Given the description of an element on the screen output the (x, y) to click on. 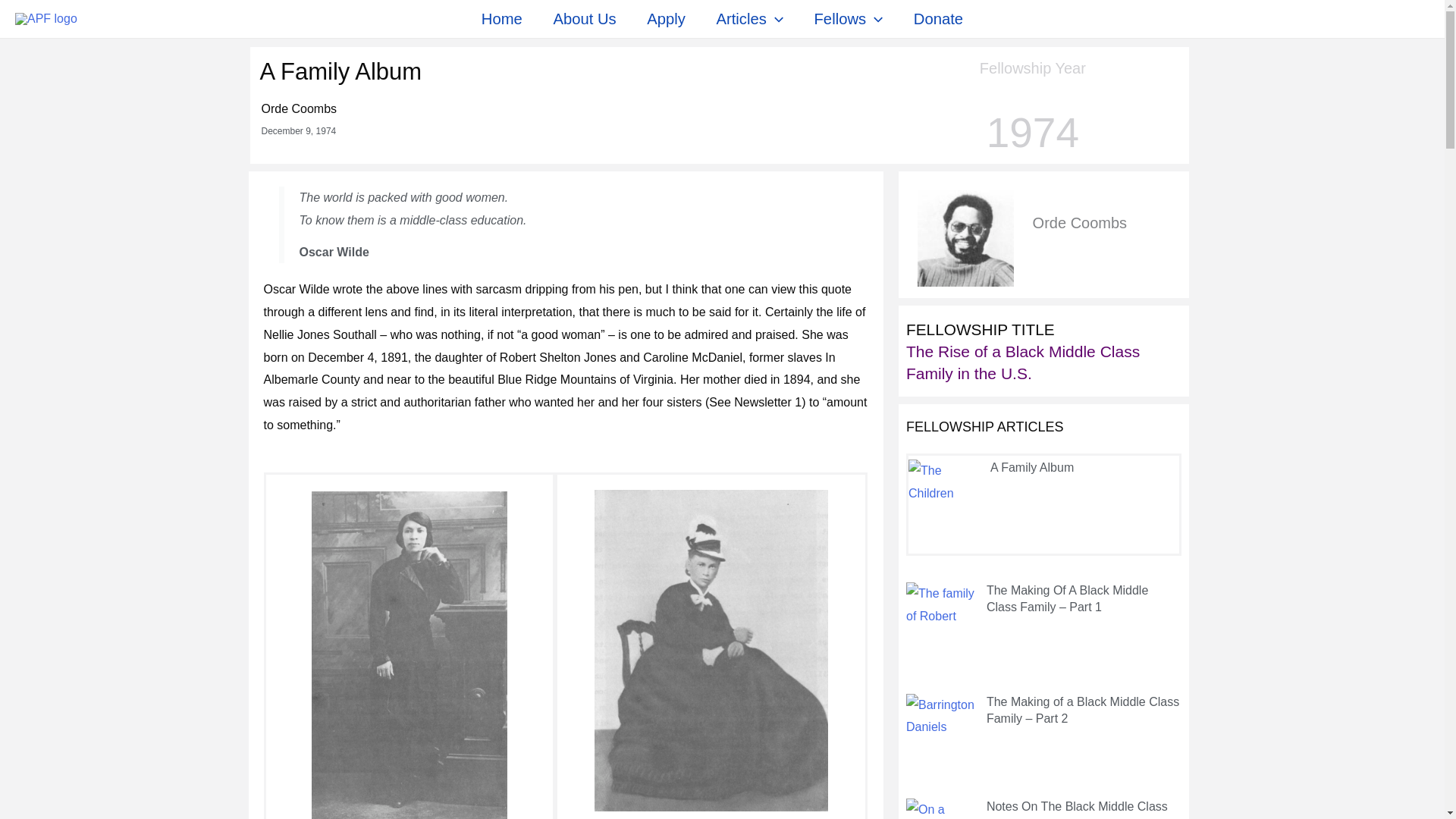
Donate (938, 18)
Home (501, 18)
Articles (748, 18)
About Us (584, 18)
Apply (665, 18)
Fellows (847, 18)
